Given the description of an element on the screen output the (x, y) to click on. 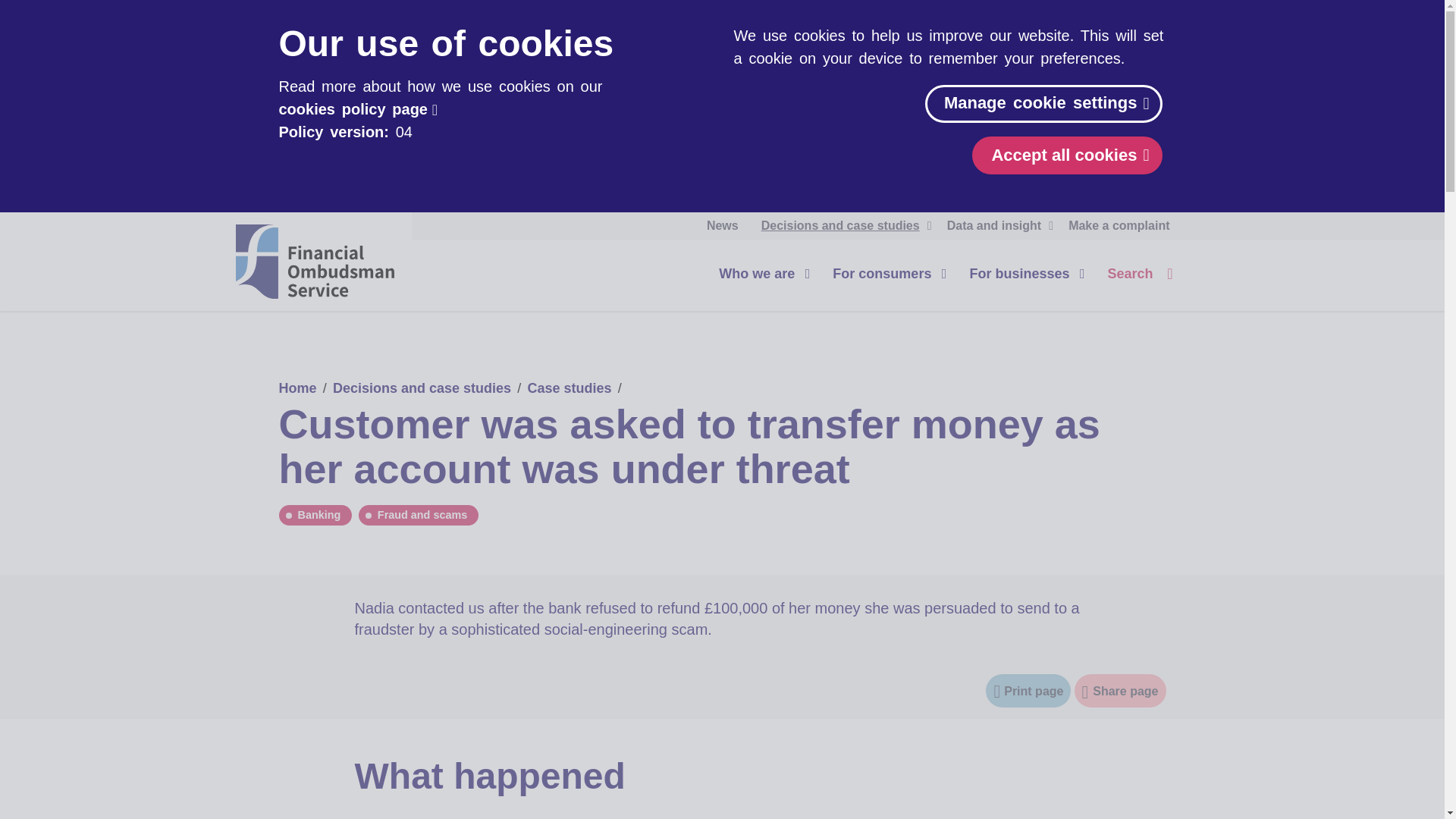
Manage cookie settings (1042, 103)
cookies policy page (358, 108)
Data and insight (995, 225)
News (721, 225)
Financial Ombudsman service (314, 261)
Make a complaint (1118, 225)
Accept all cookies (1066, 155)
Decisions and case studies (842, 225)
Who we are (760, 273)
